Given the description of an element on the screen output the (x, y) to click on. 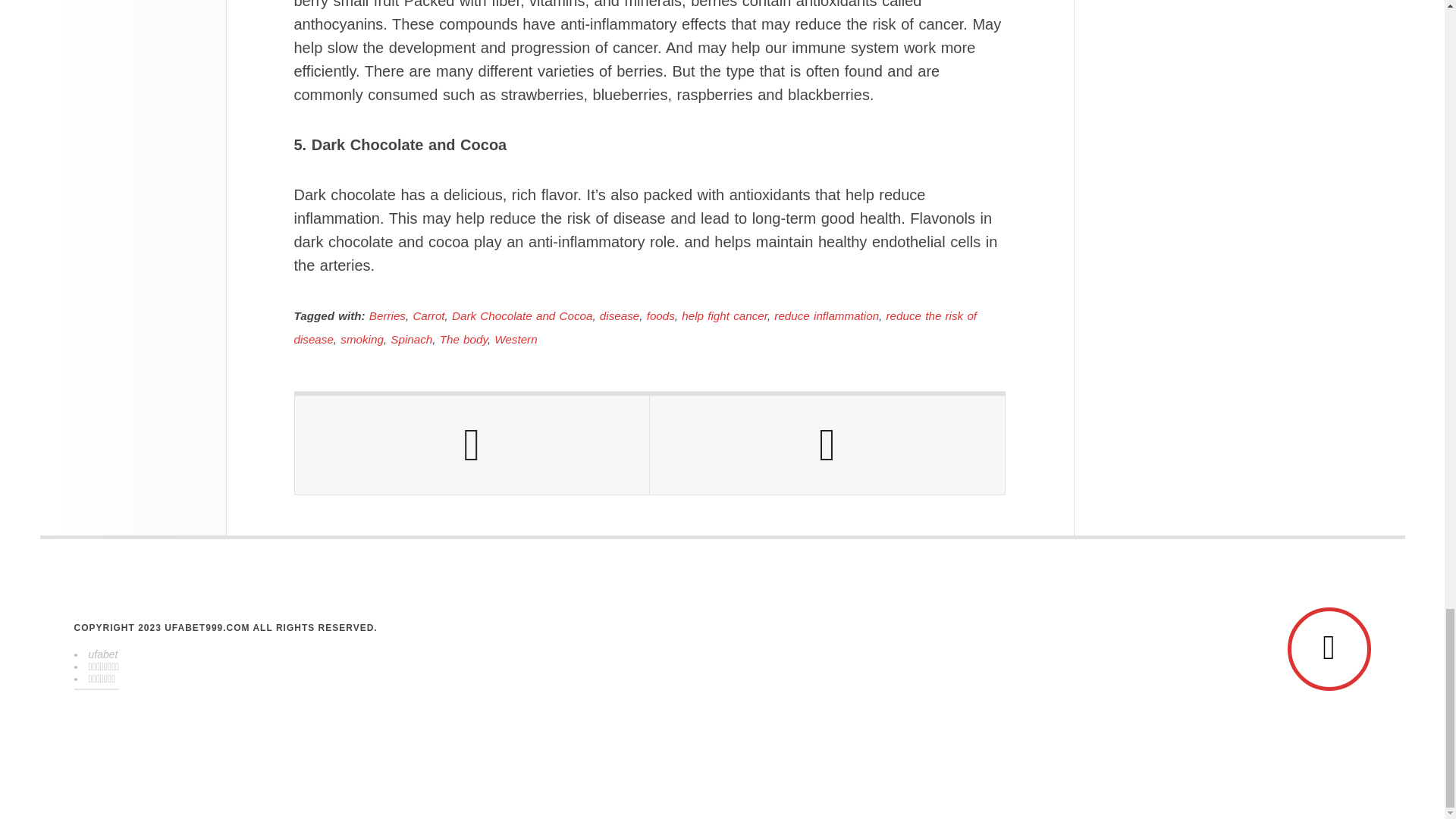
Spinach (411, 338)
Previous Post (471, 444)
smoking (362, 338)
help fight cancer (724, 315)
Next Post (826, 444)
reduce the risk of disease (635, 327)
Berries (387, 315)
Carrot (428, 315)
The body (463, 338)
Dark Chocolate and Cocoa (521, 315)
